Given the description of an element on the screen output the (x, y) to click on. 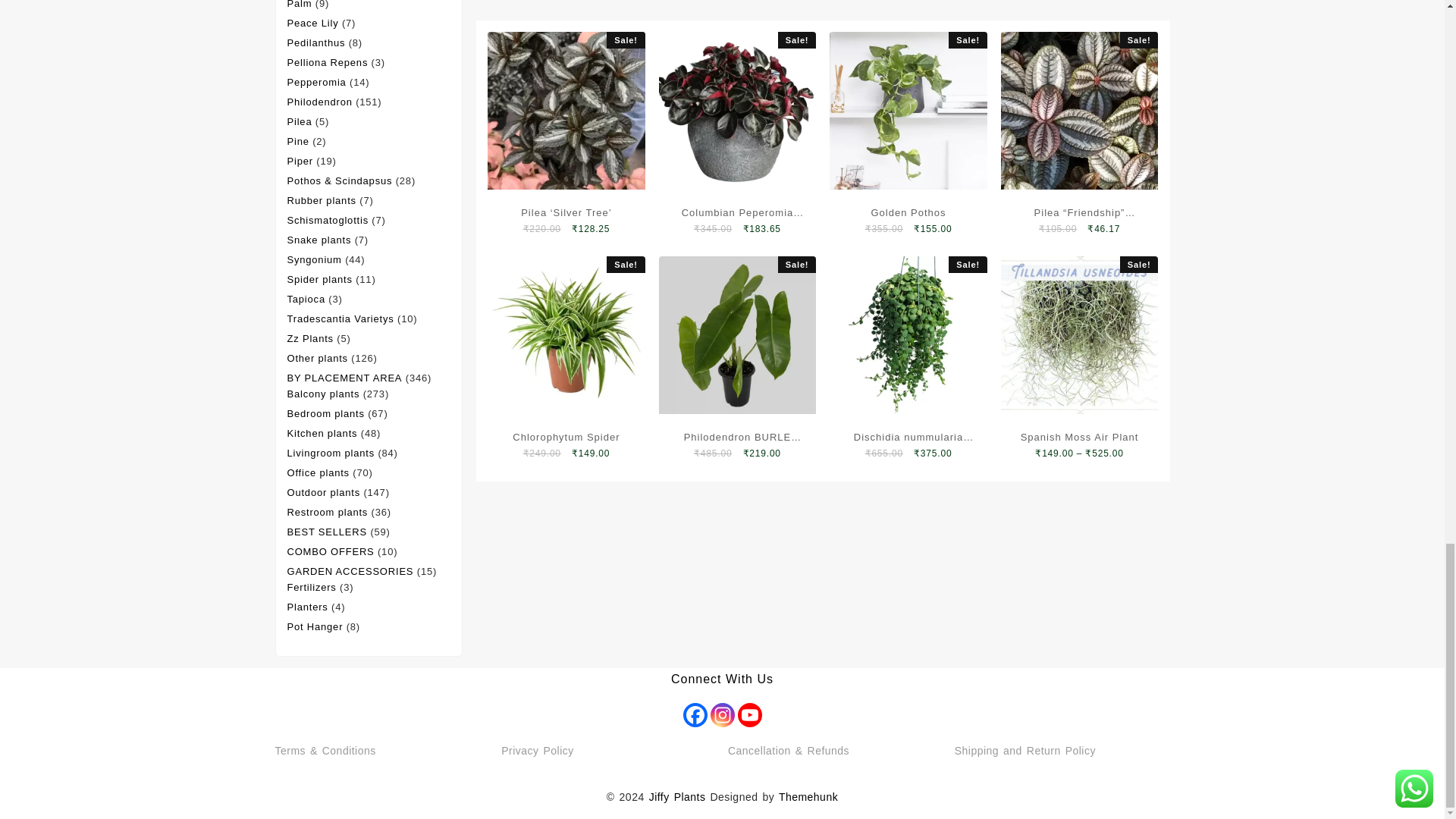
Facebook (694, 714)
Youtube Channel (748, 714)
Instagram (721, 714)
